Given the description of an element on the screen output the (x, y) to click on. 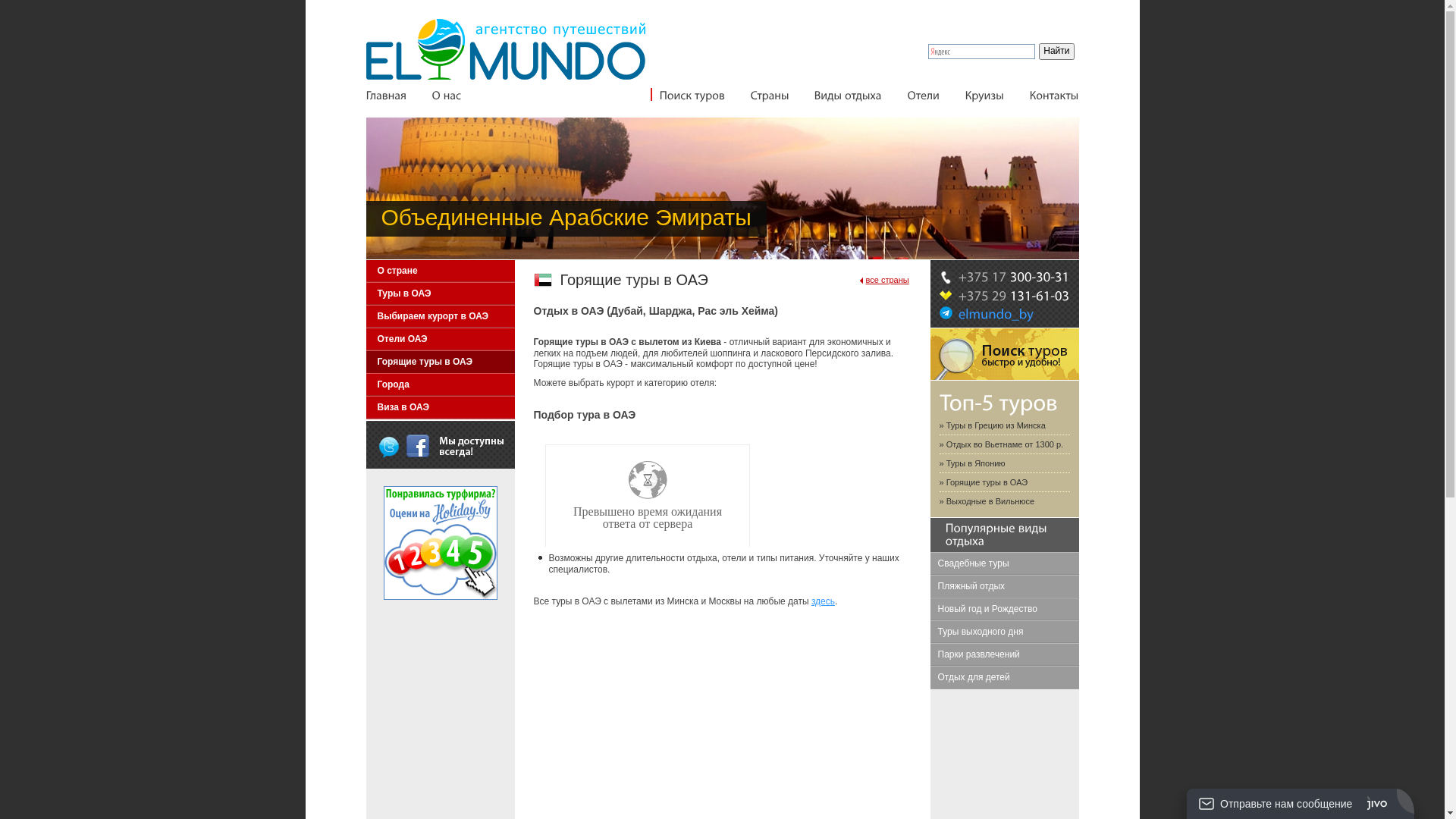
  Element type: text (388, 445)
  Element type: text (417, 445)
